Given the description of an element on the screen output the (x, y) to click on. 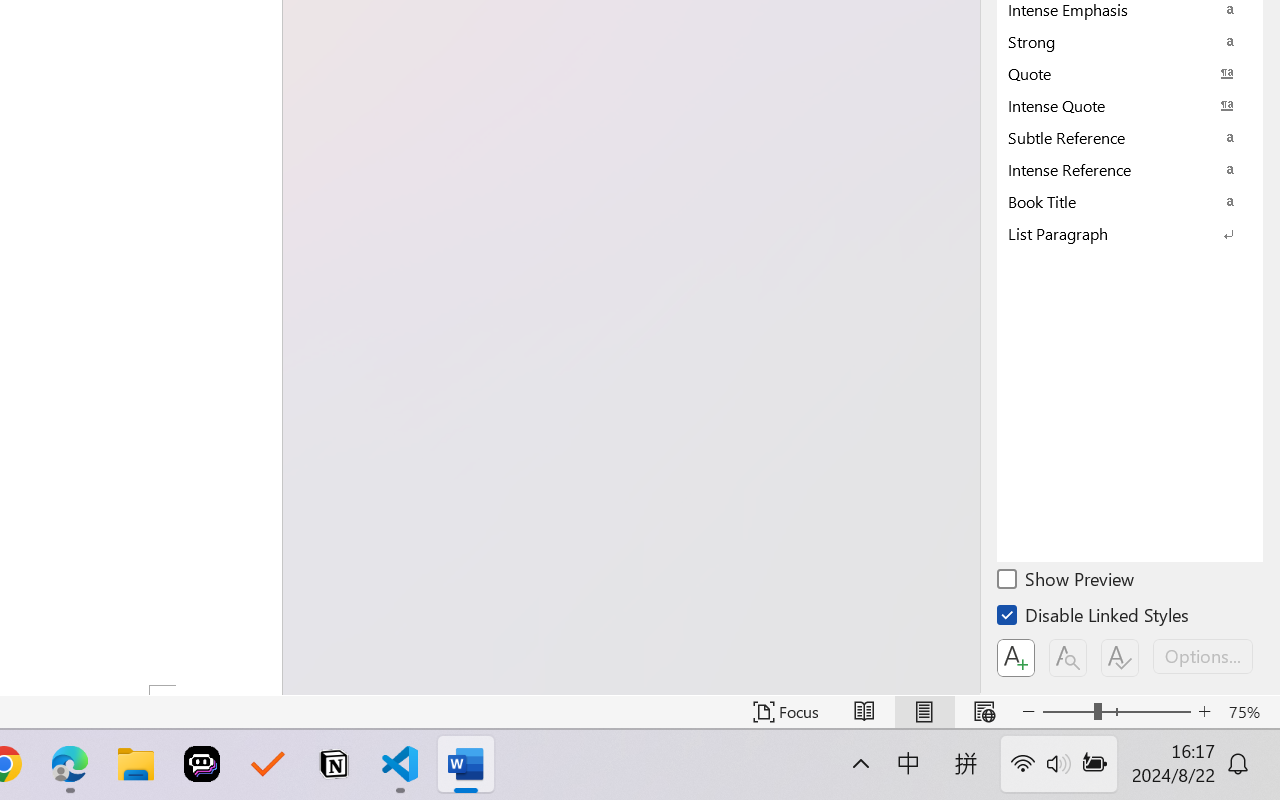
Strong (1130, 41)
Zoom 75% (1249, 712)
List Paragraph (1130, 233)
Class: NetUIButton (1119, 657)
Show Preview (1067, 582)
Disable Linked Styles (1094, 618)
Subtle Reference (1130, 137)
Intense Quote (1130, 105)
Quote (1130, 73)
Intense Reference (1130, 169)
Options... (1203, 656)
